Given the description of an element on the screen output the (x, y) to click on. 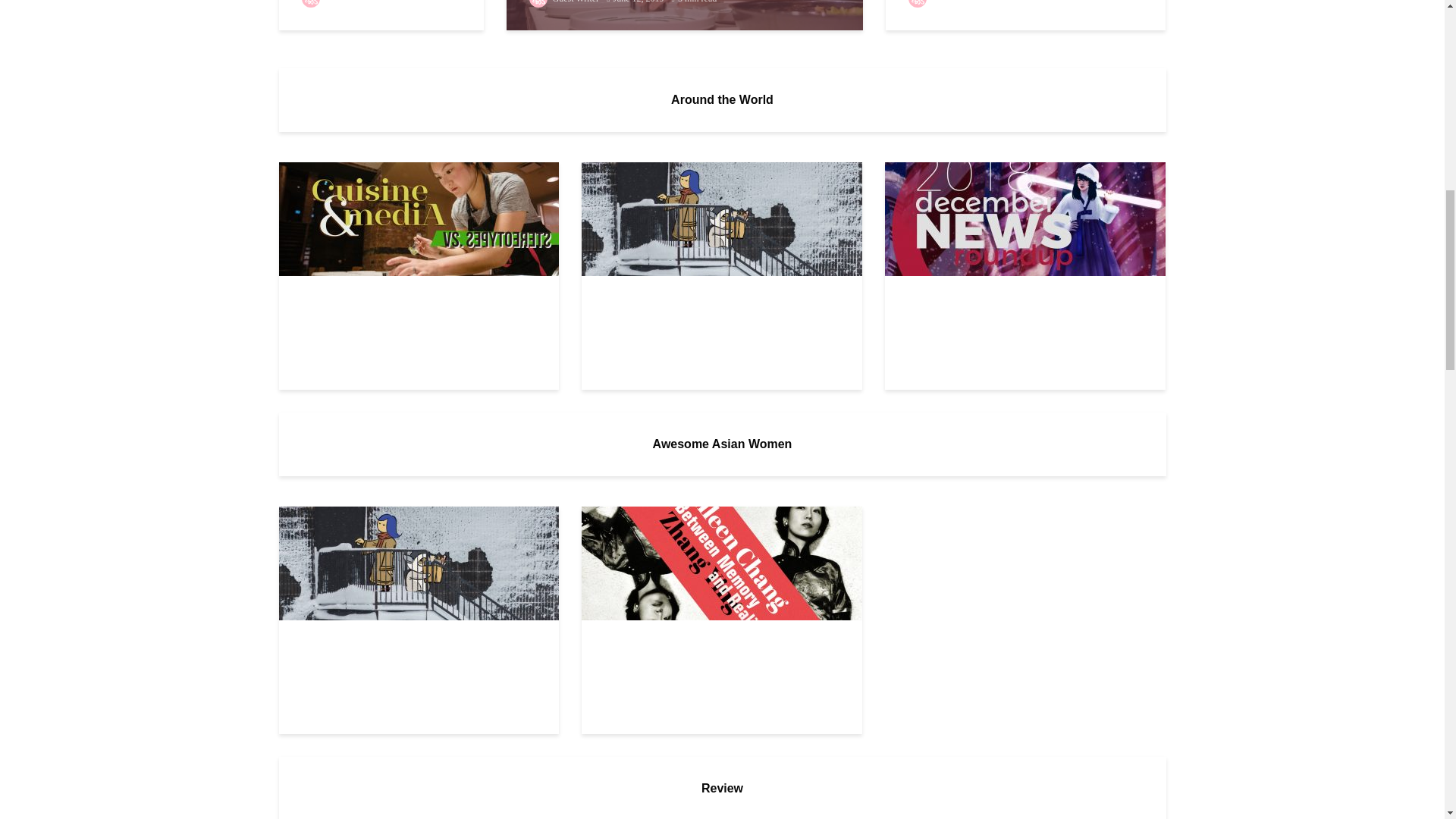
Now (419, 562)
History (720, 562)
Global Issue (720, 217)
News Roundup (1025, 217)
Asian Issue (419, 217)
